Given the description of an element on the screen output the (x, y) to click on. 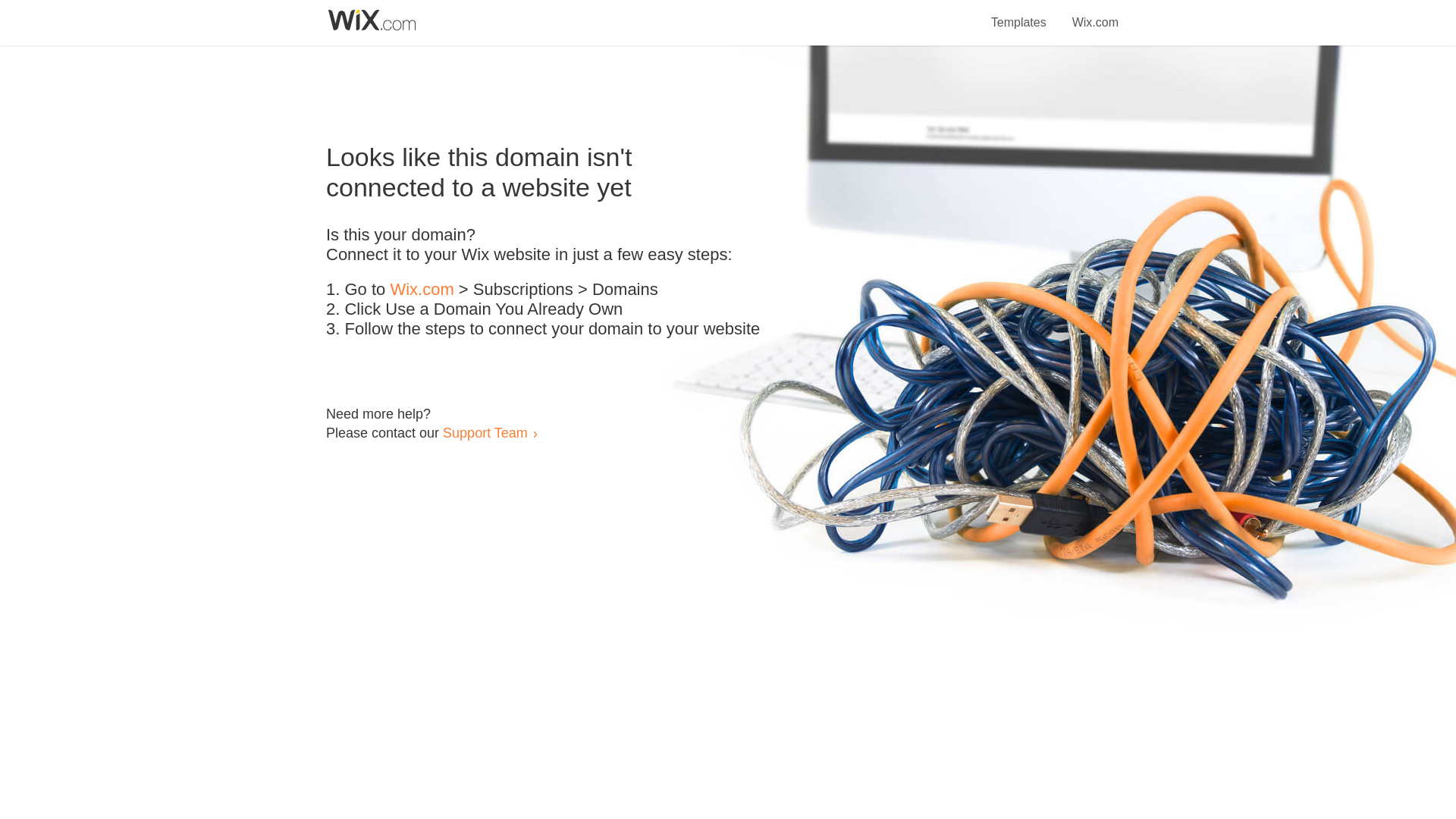
Support Team (484, 432)
Wix.com (421, 289)
Wix.com (1095, 14)
Templates (1018, 14)
